Given the description of an element on the screen output the (x, y) to click on. 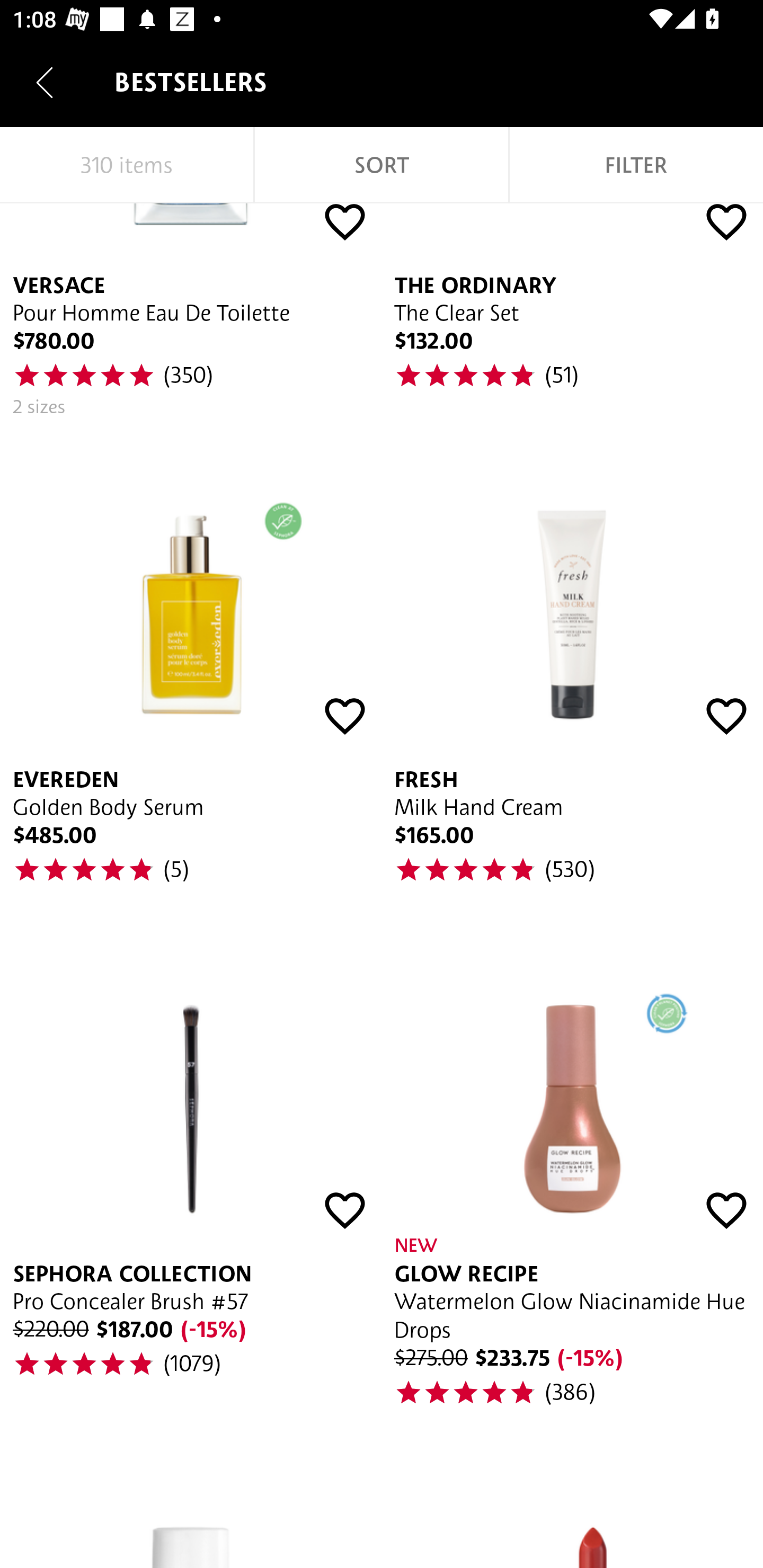
Navigate up (44, 82)
SORT (381, 165)
FILTER (636, 165)
THE ORDINARY The Clear Set $132.00 48.0 (51) (572, 317)
EVEREDEN Golden Body Serum $485.00 48.0 (5) (190, 678)
FRESH Milk Hand Cream $165.00 48.0 (530) (572, 678)
